Given the description of an element on the screen output the (x, y) to click on. 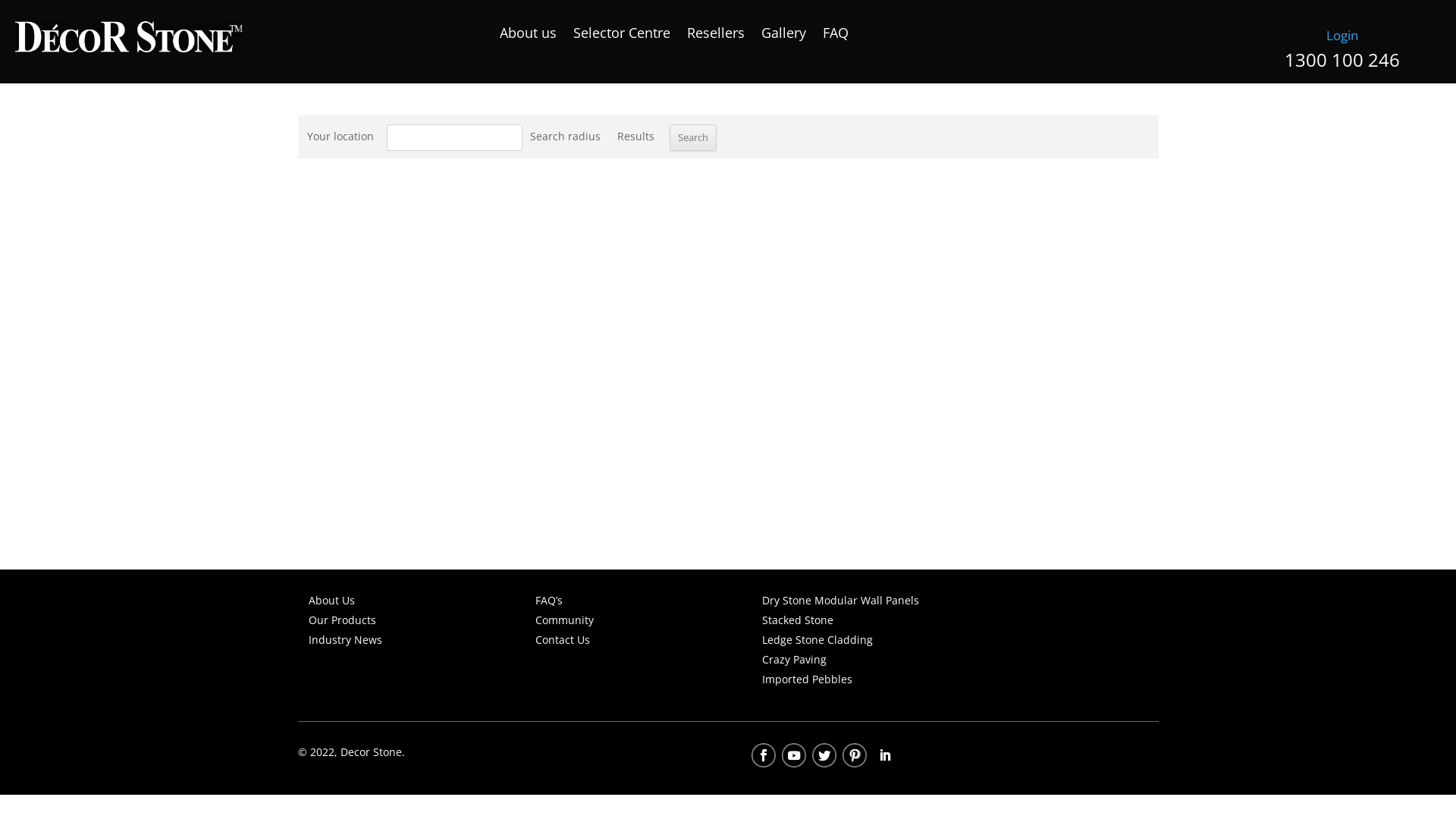
Industry News Element type: text (344, 639)
About us Element type: text (527, 35)
Dry Stone Modular Wall Panels Element type: text (840, 600)
logo1 Element type: hover (128, 36)
Resellers Element type: text (715, 35)
Crazy Paving Element type: text (794, 659)
Follow on Youtube Element type: hover (793, 755)
About Us Element type: text (330, 600)
Follow on Twitter Element type: hover (824, 755)
Login Element type: text (1342, 35)
Selector Centre Element type: text (621, 35)
FAQ Element type: text (835, 35)
Follow on Pinterest Element type: hover (854, 755)
Ledge Stone Cladding Element type: text (817, 639)
Search Element type: text (691, 137)
Community Element type: text (564, 619)
Gallery Element type: text (783, 35)
Imported Pebbles Element type: text (807, 678)
Stacked Stone Element type: text (797, 619)
Our Products Element type: text (341, 619)
Contact Us Element type: text (562, 639)
Follow on Facebook Element type: hover (763, 755)
Follow on LinkedIn Element type: hover (884, 755)
